Given the description of an element on the screen output the (x, y) to click on. 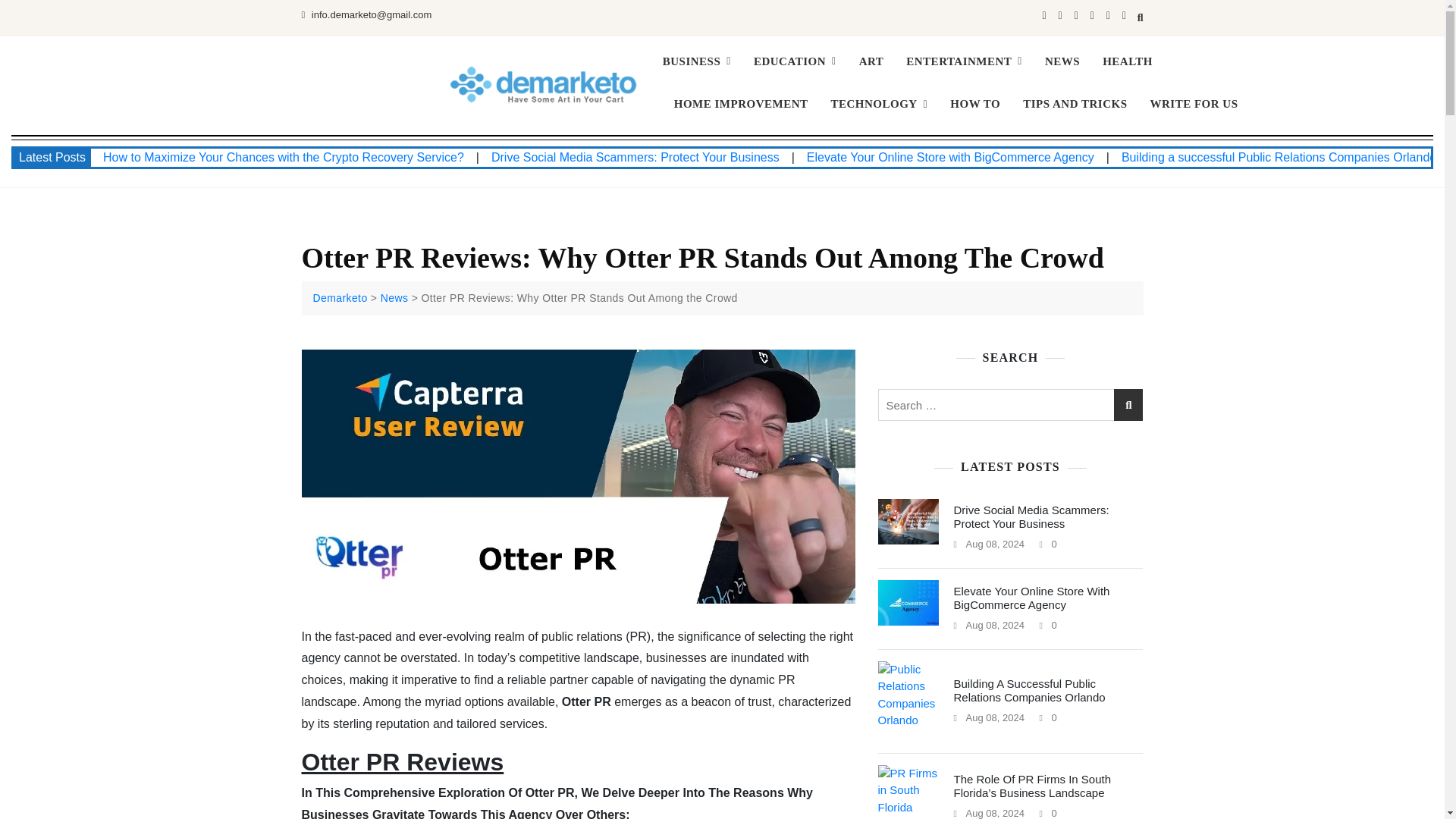
TECHNOLOGY (878, 104)
HOW TO (975, 104)
HEALTH (1126, 60)
NEWS (1061, 60)
ENTERTAINMENT (964, 60)
BUSINESS (702, 60)
HOME IMPROVEMENT (740, 104)
Go to Demarketo. (339, 297)
Go to the News Category archives. (394, 297)
